Given the description of an element on the screen output the (x, y) to click on. 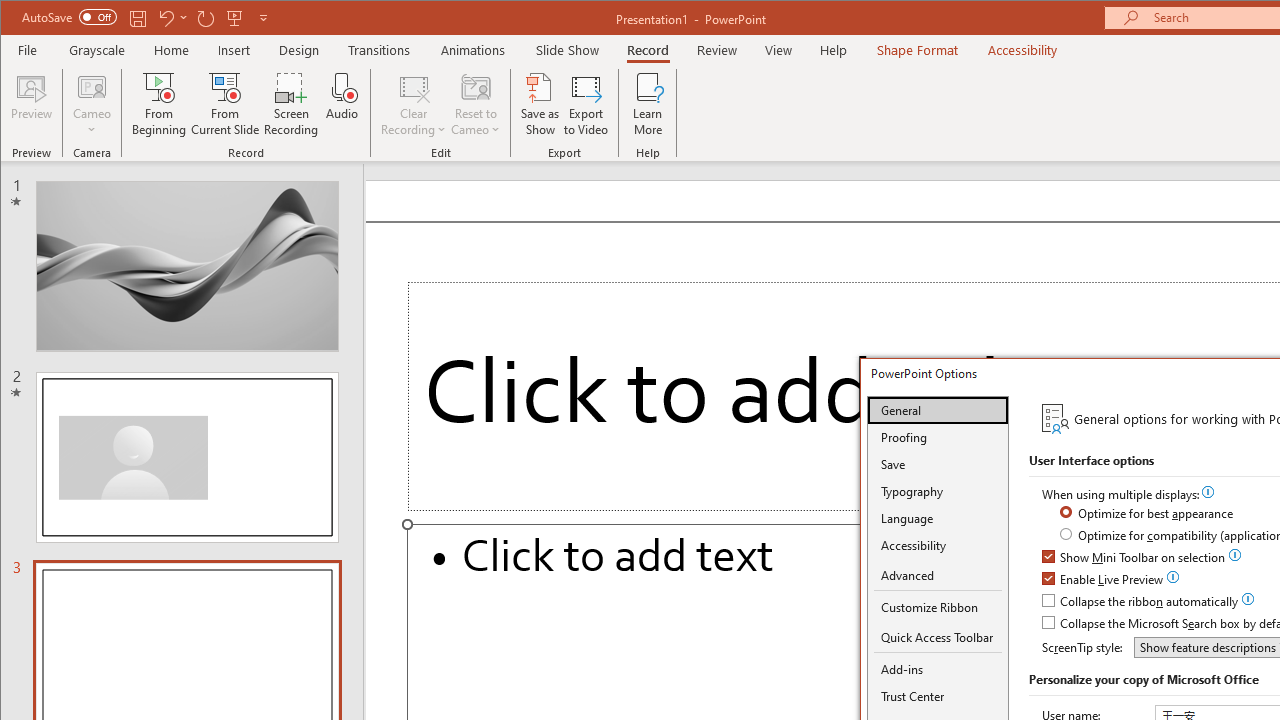
Grayscale (97, 50)
Enable Live Preview (1104, 579)
